Given the description of an element on the screen output the (x, y) to click on. 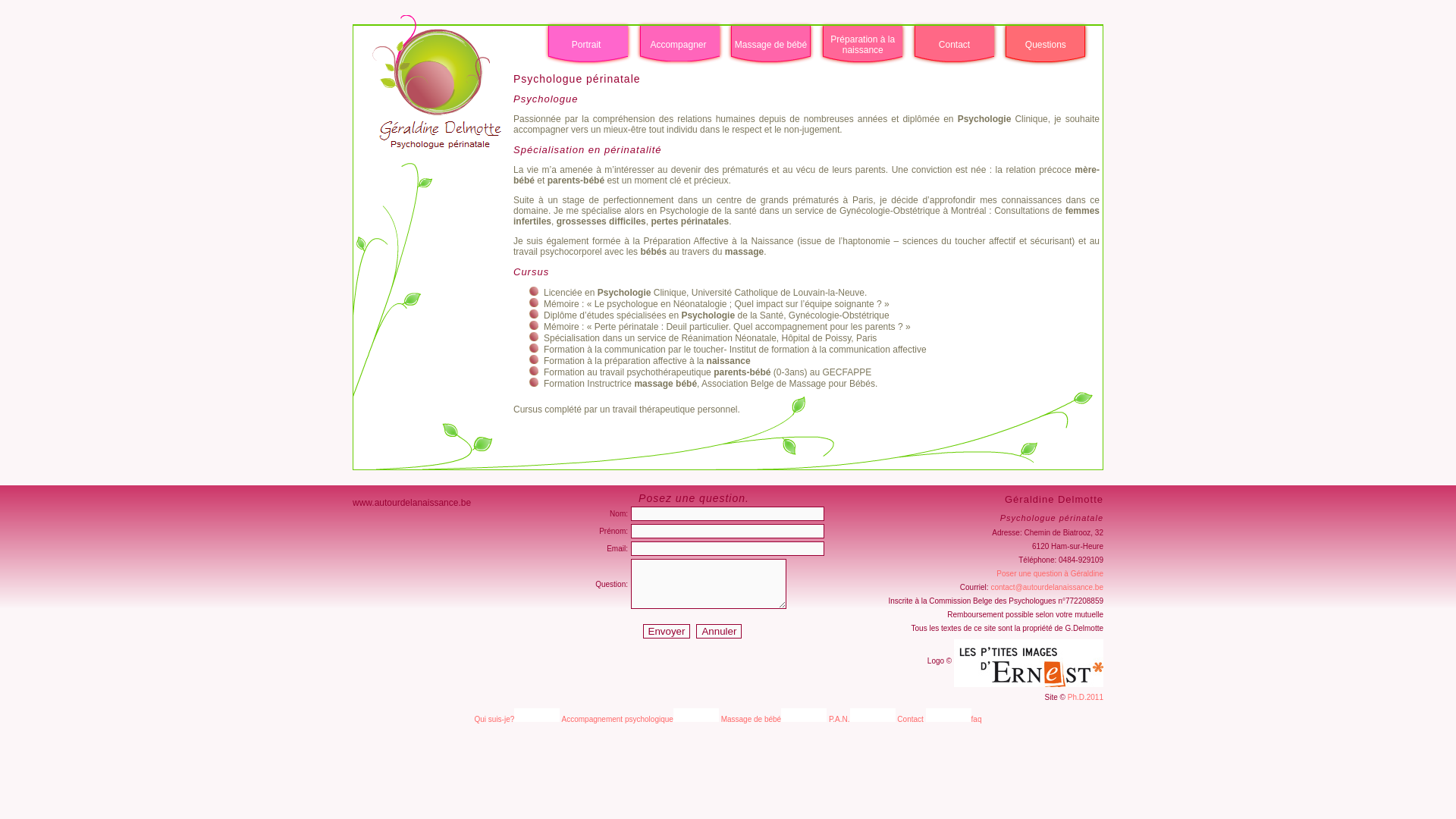
Ph.D.2011 Element type: text (1085, 697)
faq Element type: text (976, 719)
contact@autourdelanaissance.be Element type: text (1046, 587)
Accompagnement psychologique Element type: text (617, 719)
Accompagner Element type: text (677, 44)
Envoyer Element type: text (666, 631)
P.A.N. Element type: text (839, 719)
Questions Element type: text (1045, 44)
Contact Element type: text (909, 719)
Qui suis-je? Element type: text (494, 719)
Portrait Element type: text (586, 44)
Contact Element type: text (953, 44)
www.autourdelanaissance.be Element type: text (411, 502)
